Given the description of an element on the screen output the (x, y) to click on. 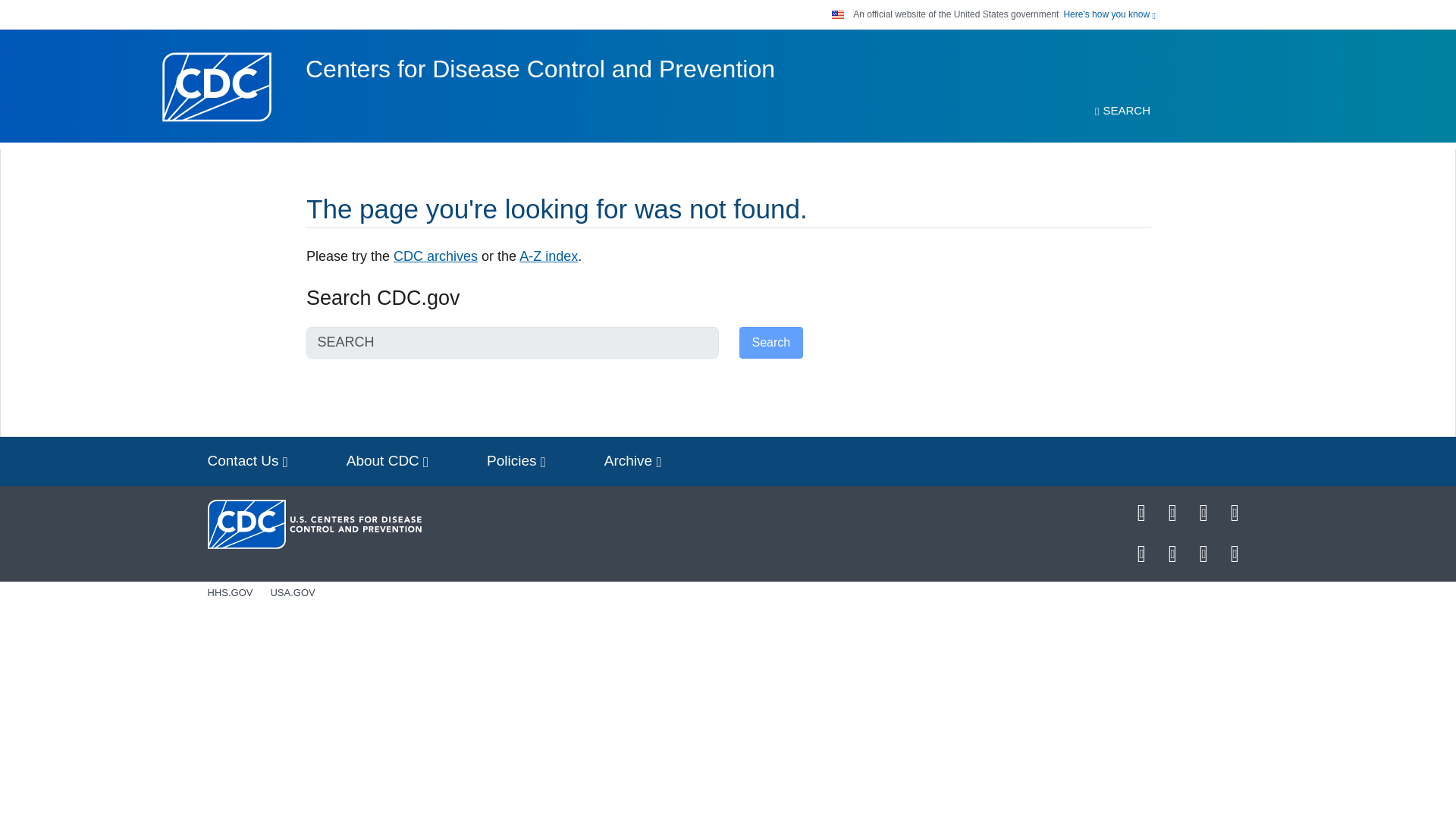
Policies (516, 461)
CDC archives (435, 255)
About CDC (387, 461)
Contact Us (247, 461)
SEARCH (1122, 110)
Centers for Disease Control and Prevention (539, 68)
Search (770, 342)
Here's how you know (1108, 14)
Archive (633, 461)
A-Z index (548, 255)
